Given the description of an element on the screen output the (x, y) to click on. 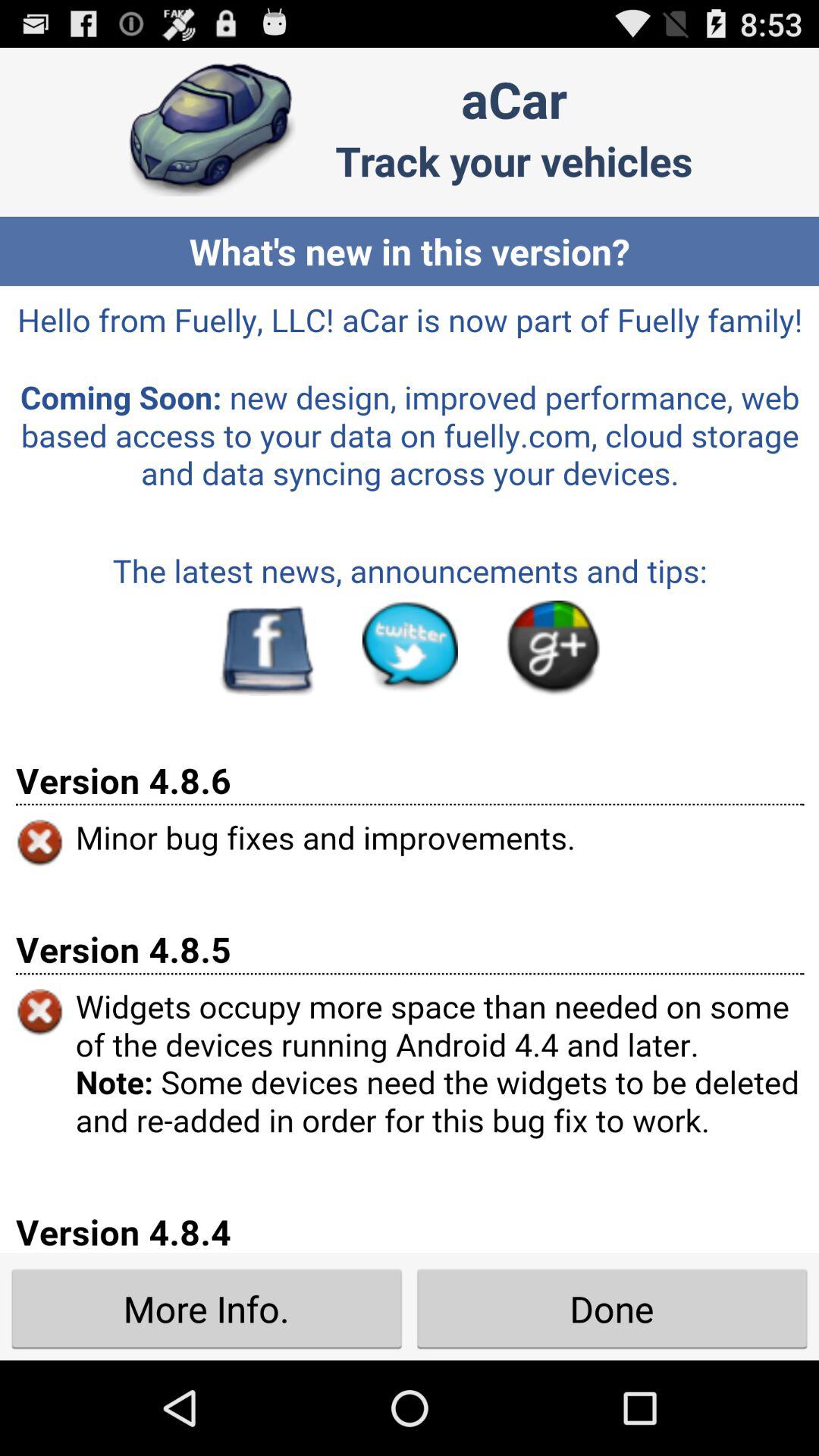
seeing in the paragraph (409, 769)
